Given the description of an element on the screen output the (x, y) to click on. 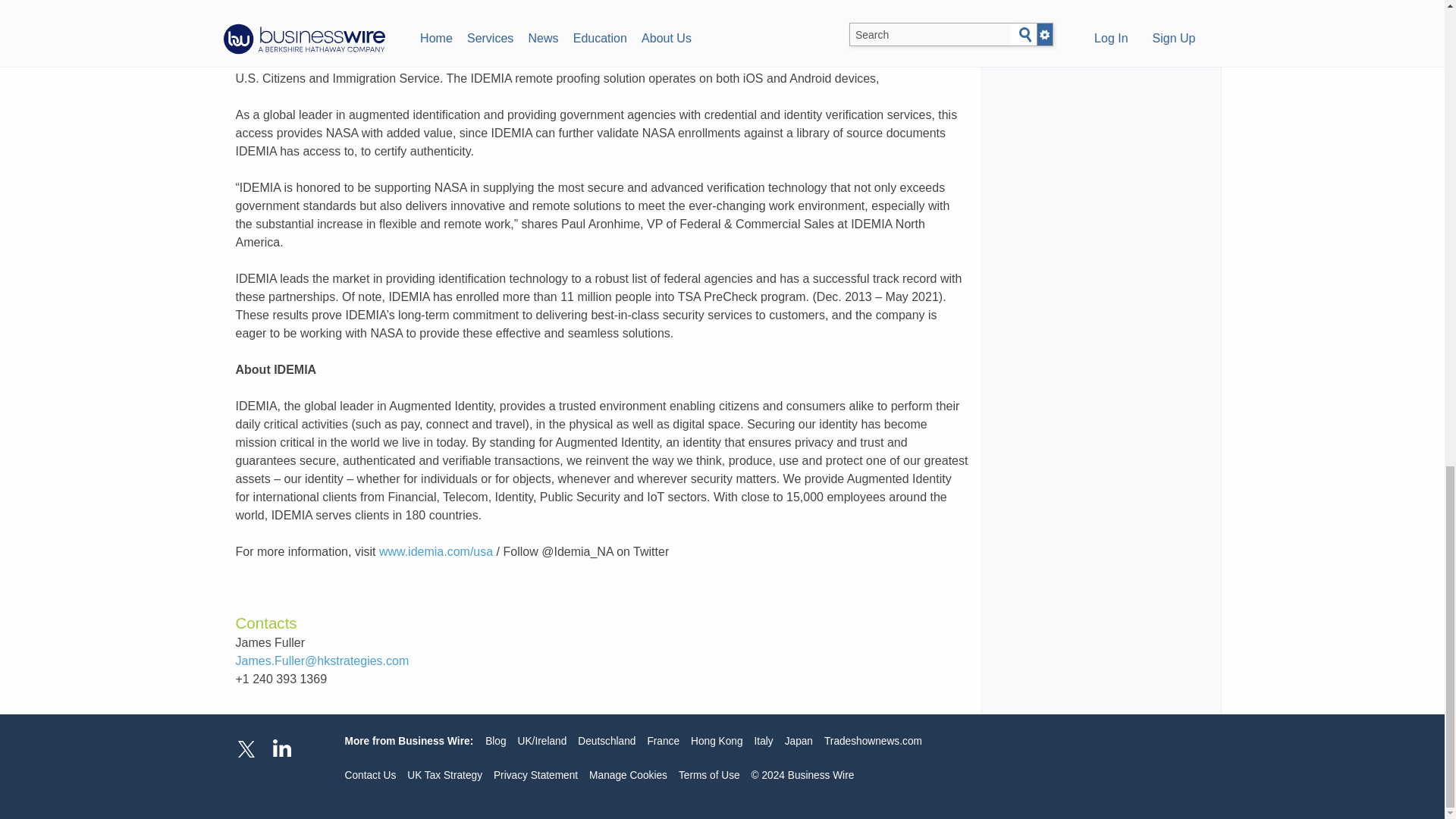
Post this (269, 17)
